Given the description of an element on the screen output the (x, y) to click on. 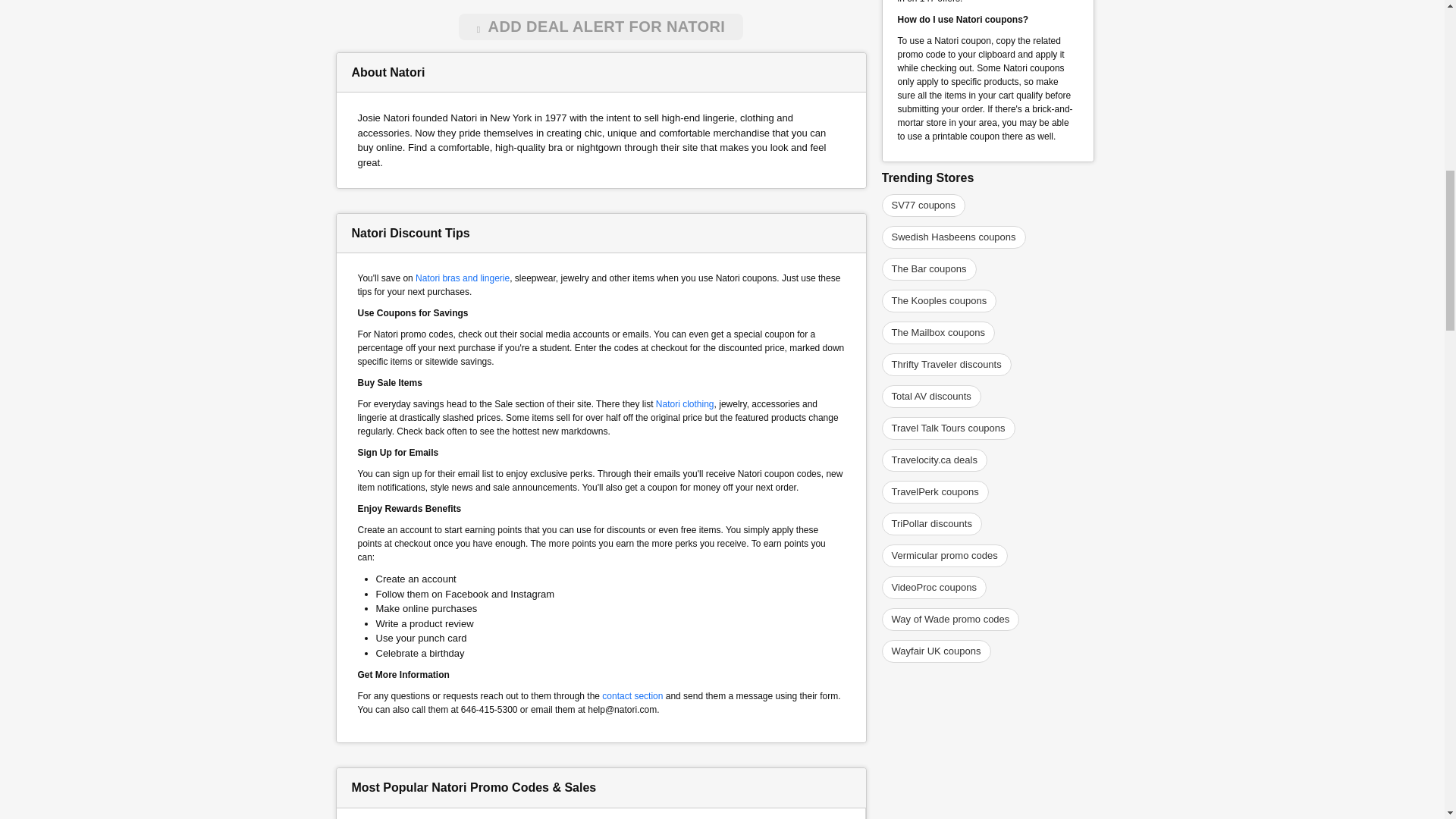
Natori bras and lingerie (461, 277)
Natori clothing (685, 403)
ADD DEAL ALERT FOR NATORI (600, 26)
contact section (632, 696)
